Given the description of an element on the screen output the (x, y) to click on. 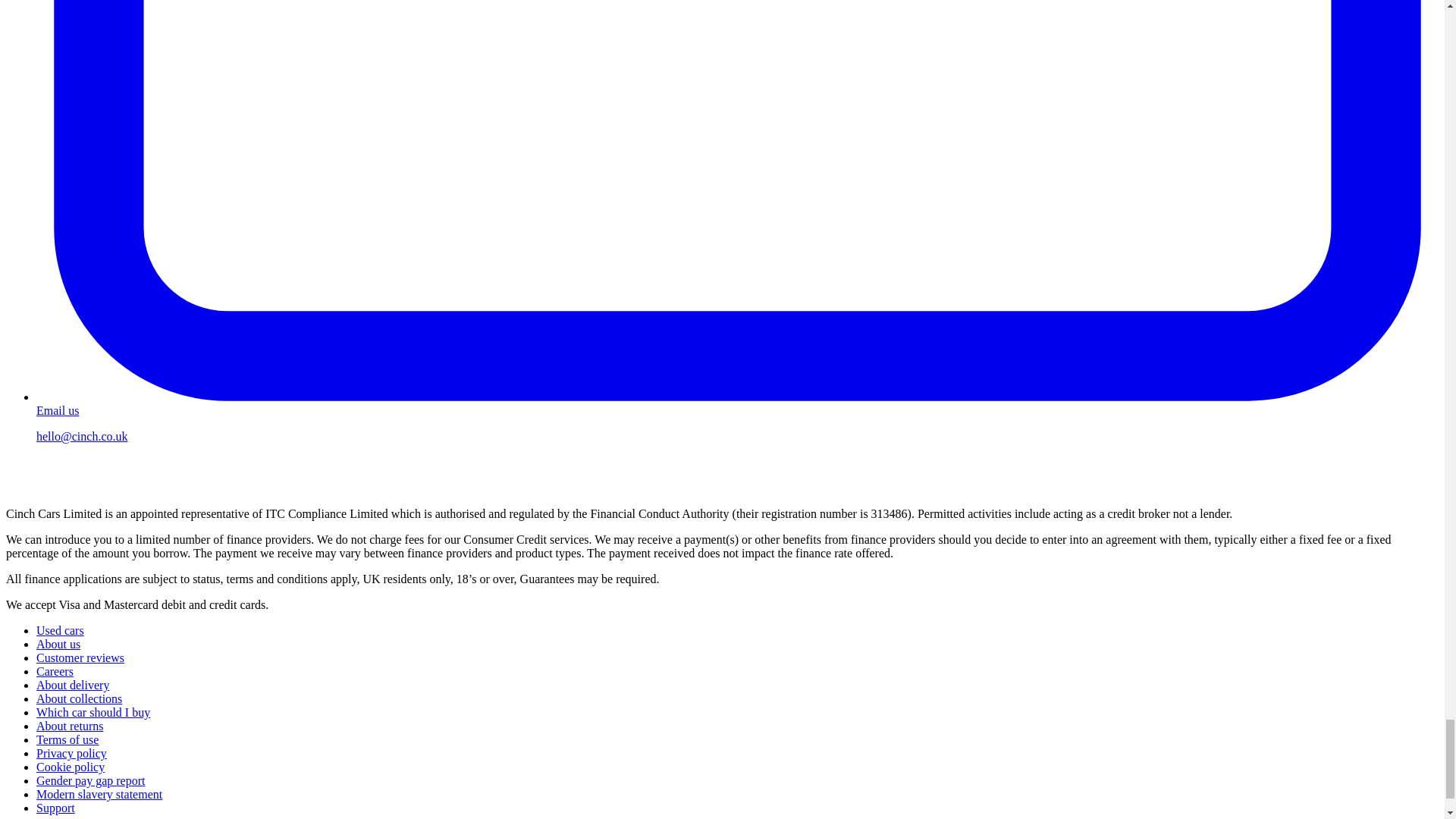
Used cars (60, 630)
